Given the description of an element on the screen output the (x, y) to click on. 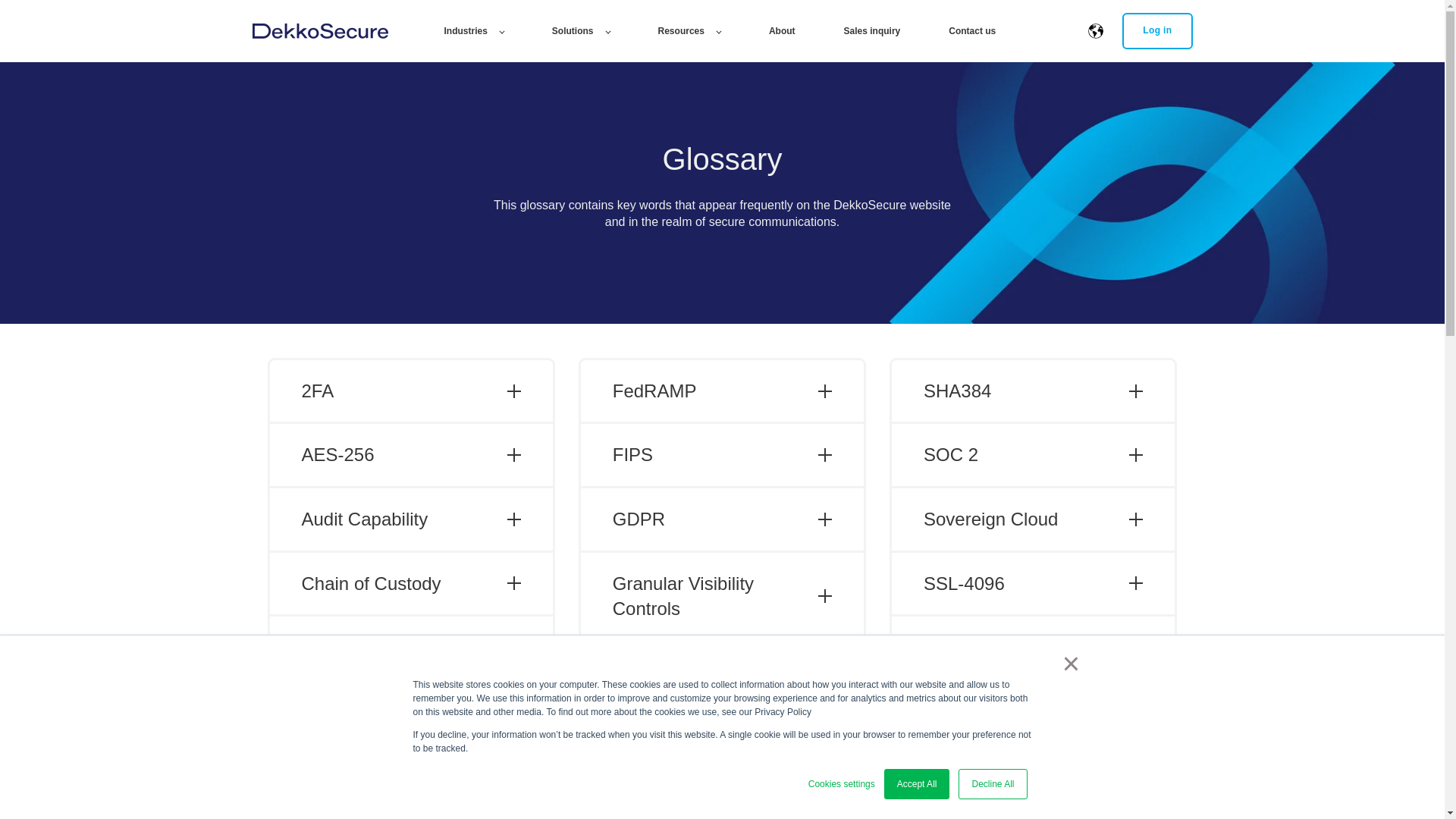
Resources (689, 30)
Solutions (580, 30)
Cookies settings (841, 784)
Contact us (972, 30)
Log in (1157, 30)
Accept All (916, 784)
Sales inquiry (872, 30)
Decline All (992, 784)
Industries (473, 30)
